Given the description of an element on the screen output the (x, y) to click on. 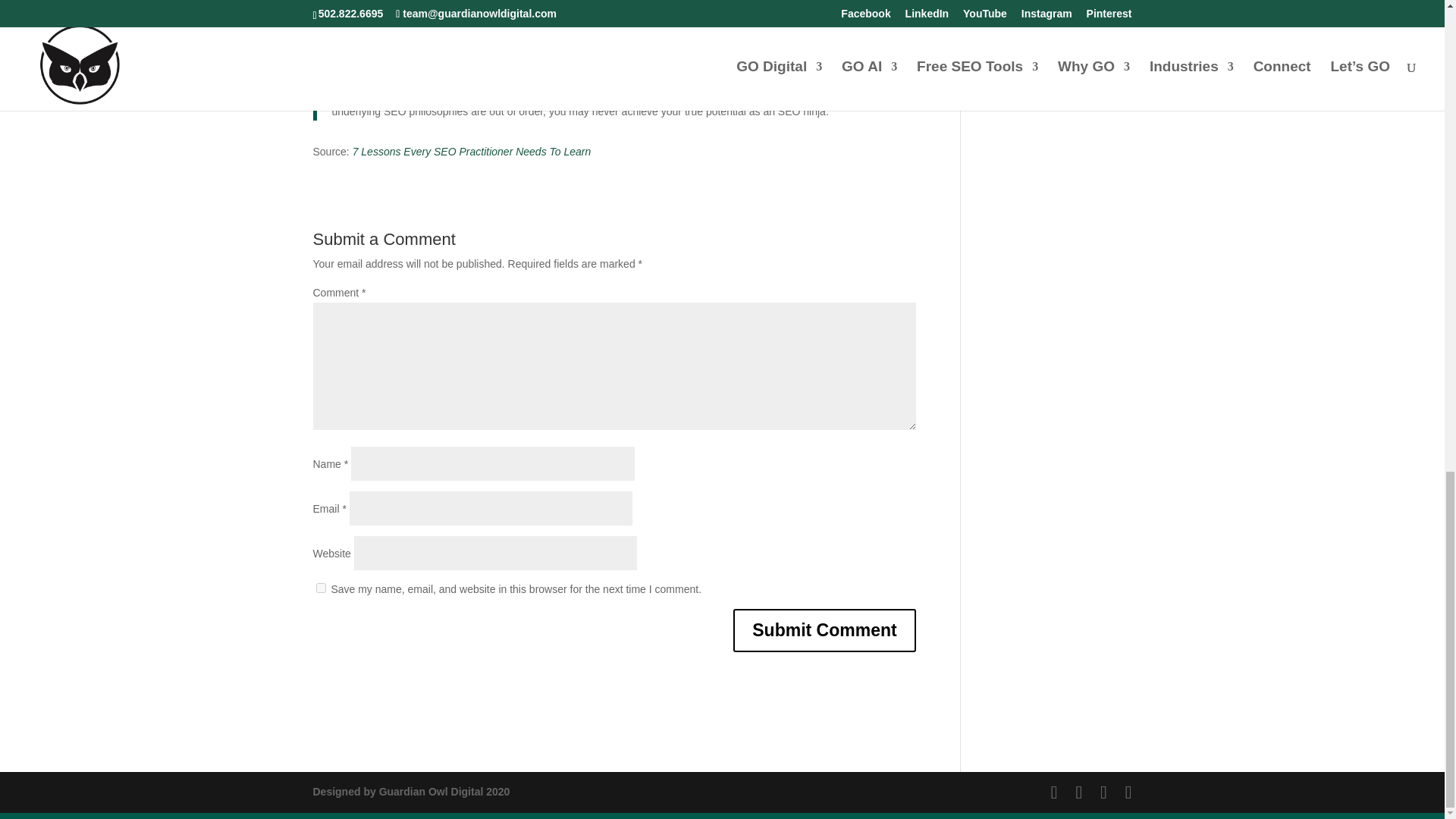
Submit Comment (824, 630)
yes (319, 587)
